Given the description of an element on the screen output the (x, y) to click on. 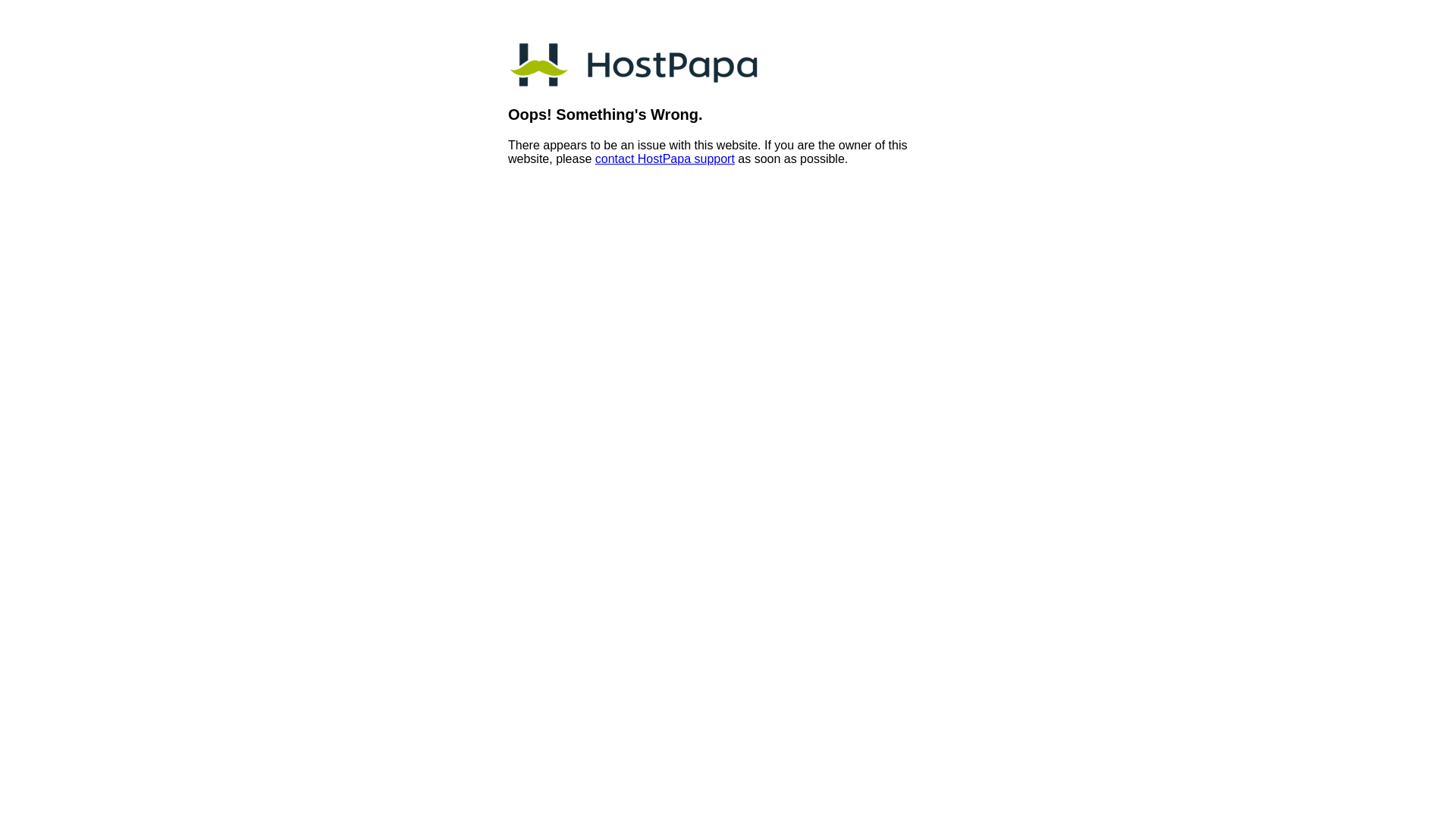
contact HostPapa support Element type: text (664, 158)
